Given the description of an element on the screen output the (x, y) to click on. 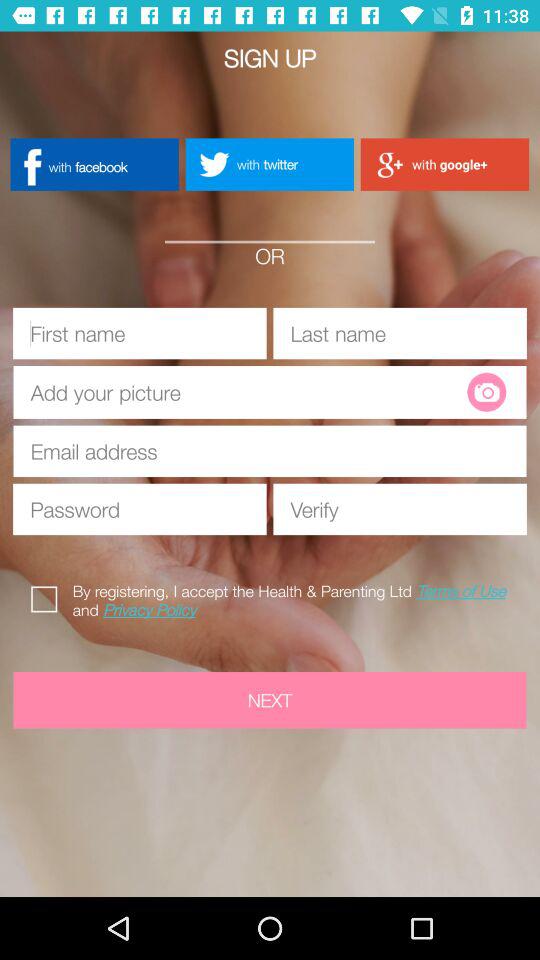
launch the with facebook at the top left corner (94, 164)
